Given the description of an element on the screen output the (x, y) to click on. 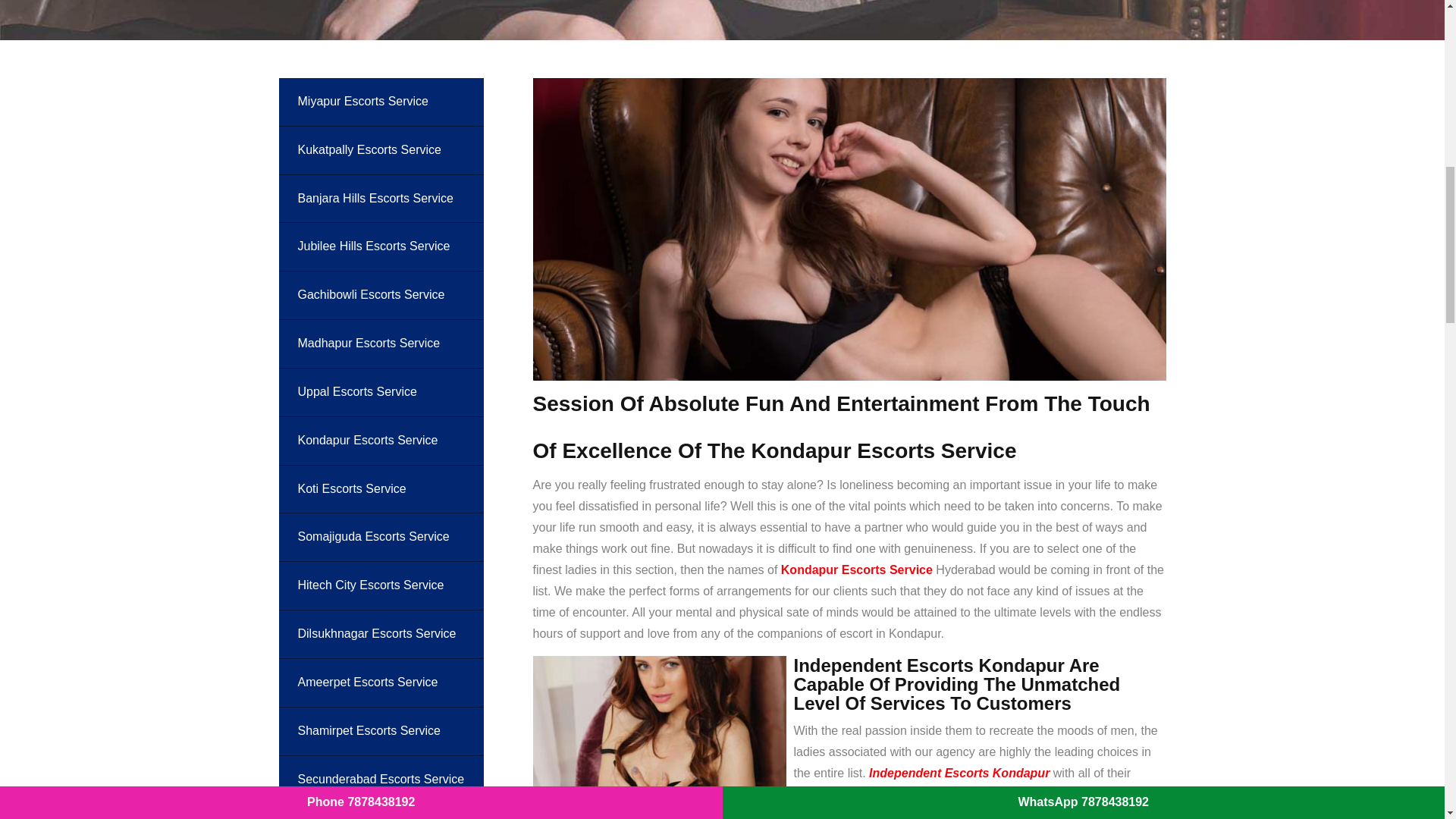
Hitech City Escorts Service (381, 585)
Somajiguda Escorts Service (381, 537)
Madhapur Escorts Service (381, 343)
Koti Escorts Service (381, 489)
Kondapur Escorts Service (856, 569)
Manikonda Escorts Service (381, 811)
Independent Escorts Kondapur (959, 772)
Jubilee Hills Escorts Service (381, 246)
Dilsukhnagar Escorts Service (381, 634)
Shamirpet Escorts Service (381, 731)
